Given the description of an element on the screen output the (x, y) to click on. 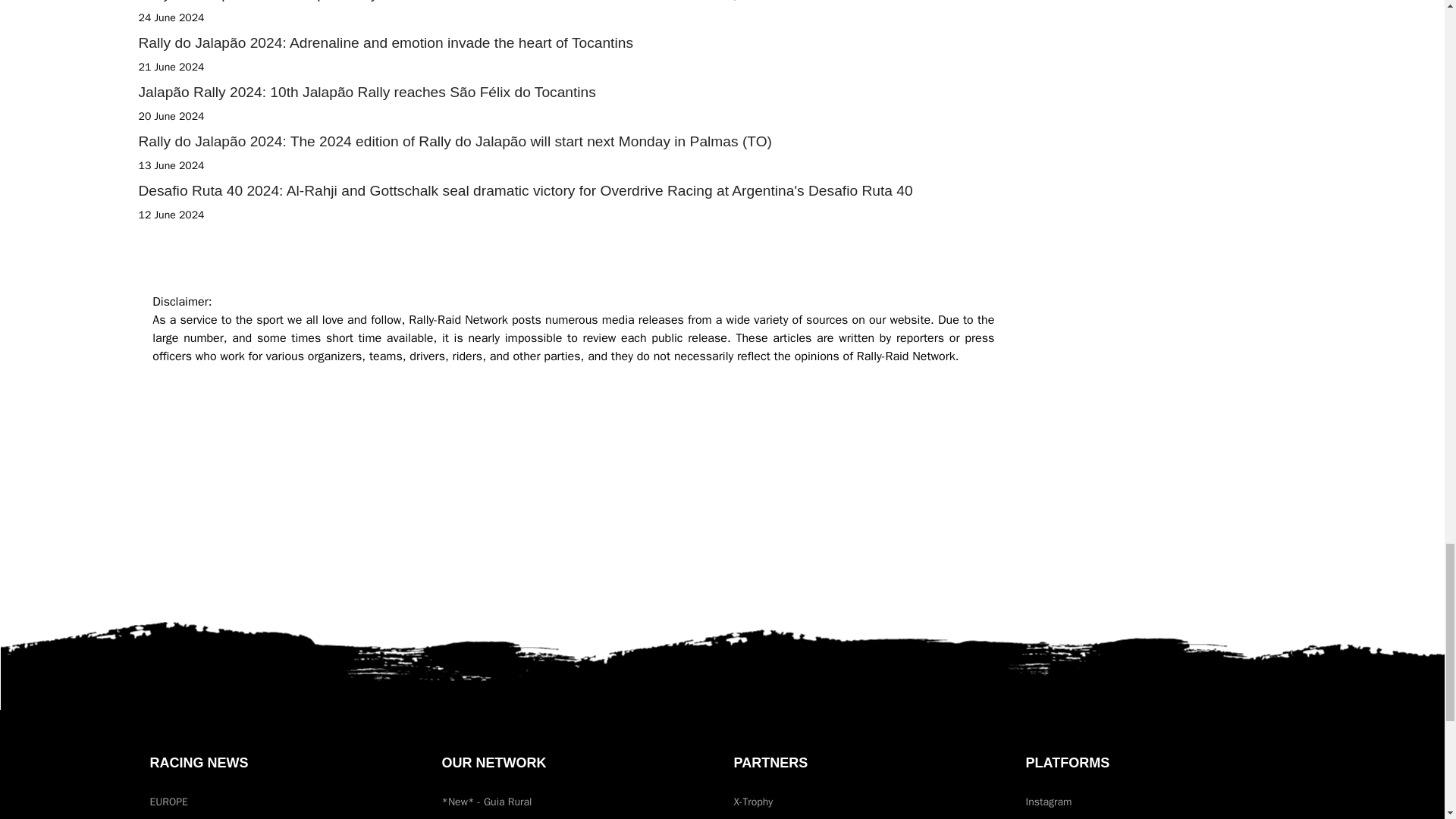
Published: 20 June 2024 (170, 115)
Published: 13 June 2024 (170, 164)
Published: 12 June 2024 (170, 214)
Published: 21 June 2024 (170, 66)
Published: 24 June 2024 (170, 17)
